Given the description of an element on the screen output the (x, y) to click on. 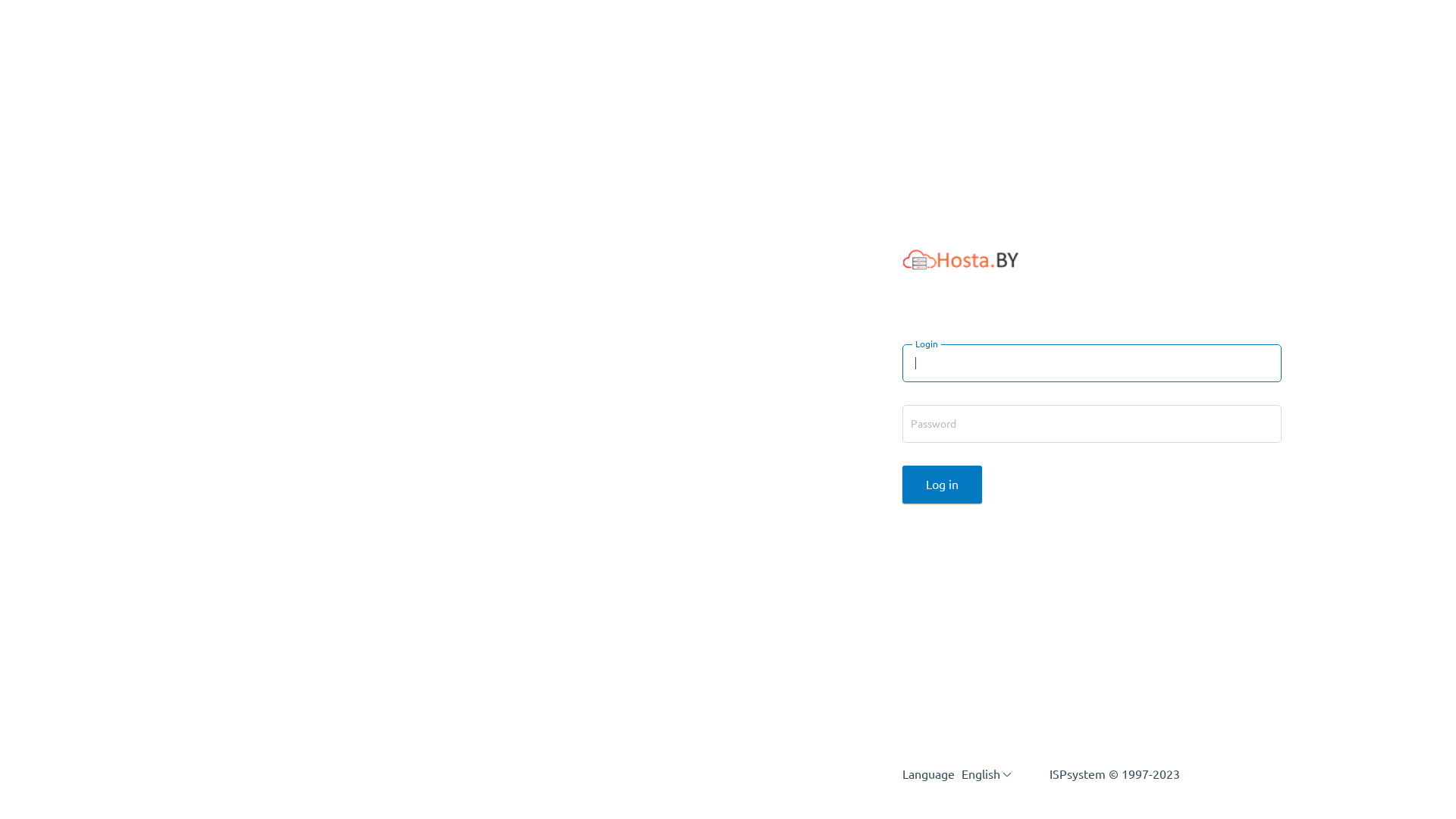
Log in Element type: text (942, 484)
